Given the description of an element on the screen output the (x, y) to click on. 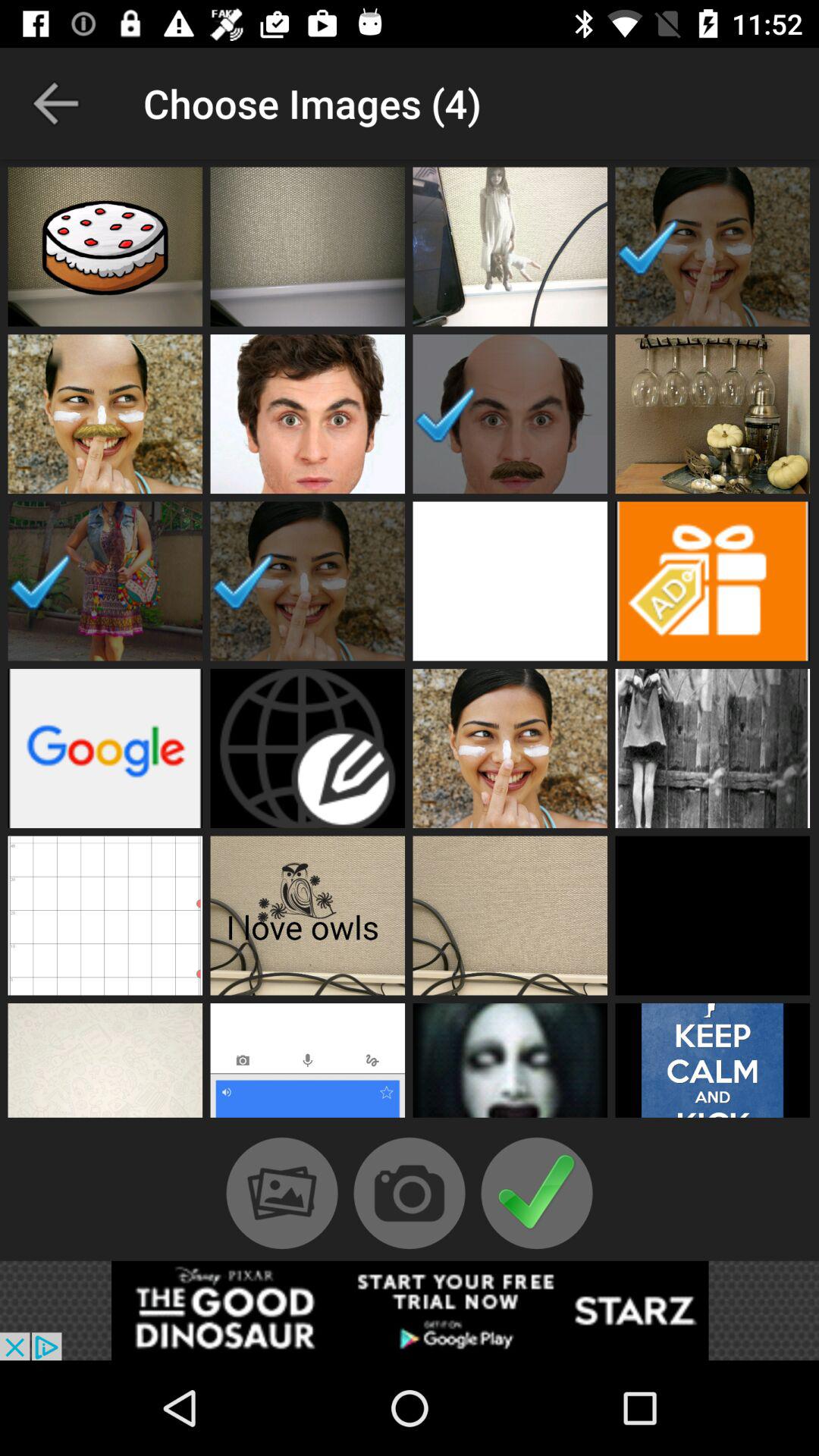
choose image (307, 1064)
